Given the description of an element on the screen output the (x, y) to click on. 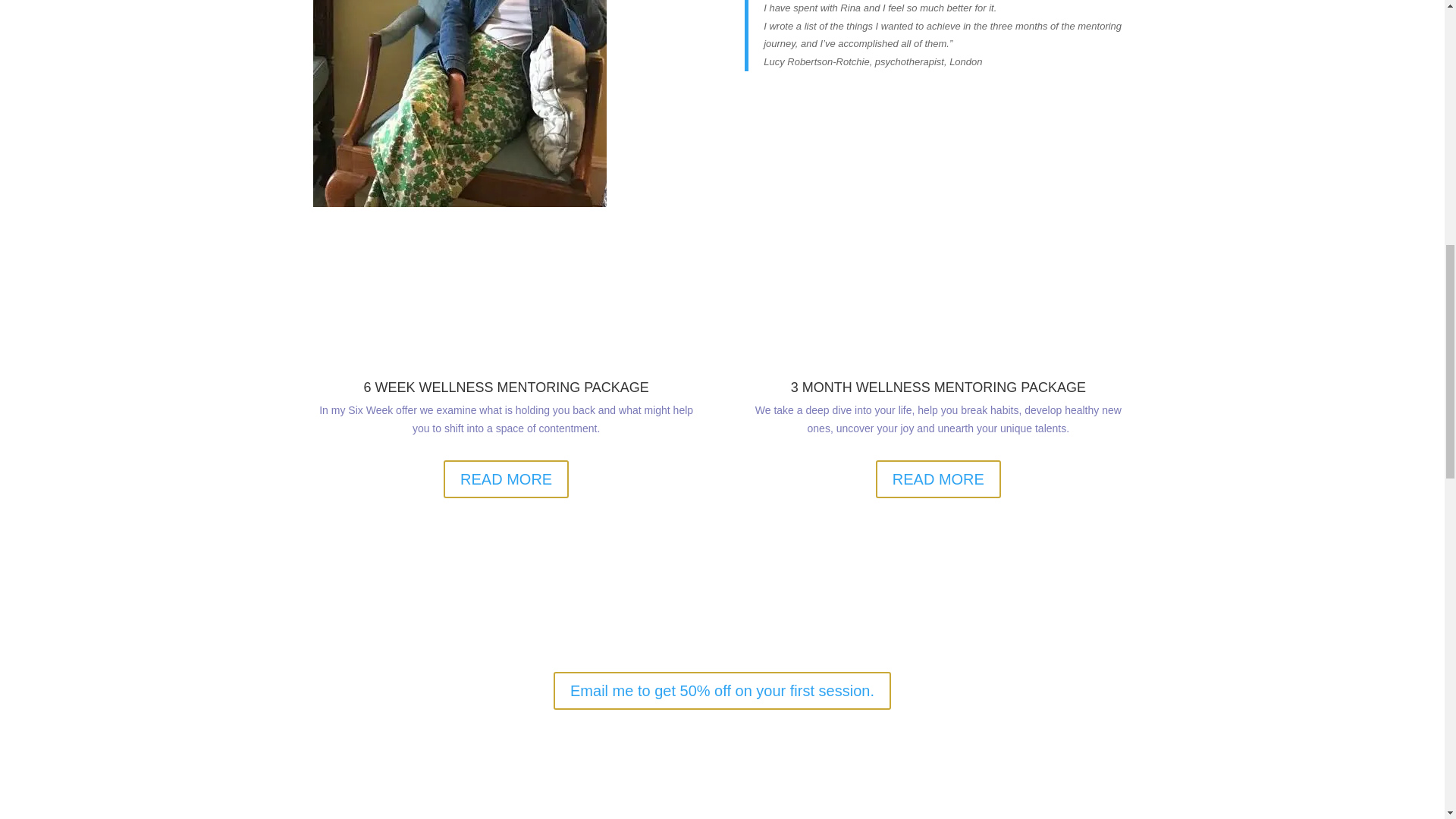
READ MORE (938, 478)
READ MORE (506, 478)
Mentoring (459, 103)
